Given the description of an element on the screen output the (x, y) to click on. 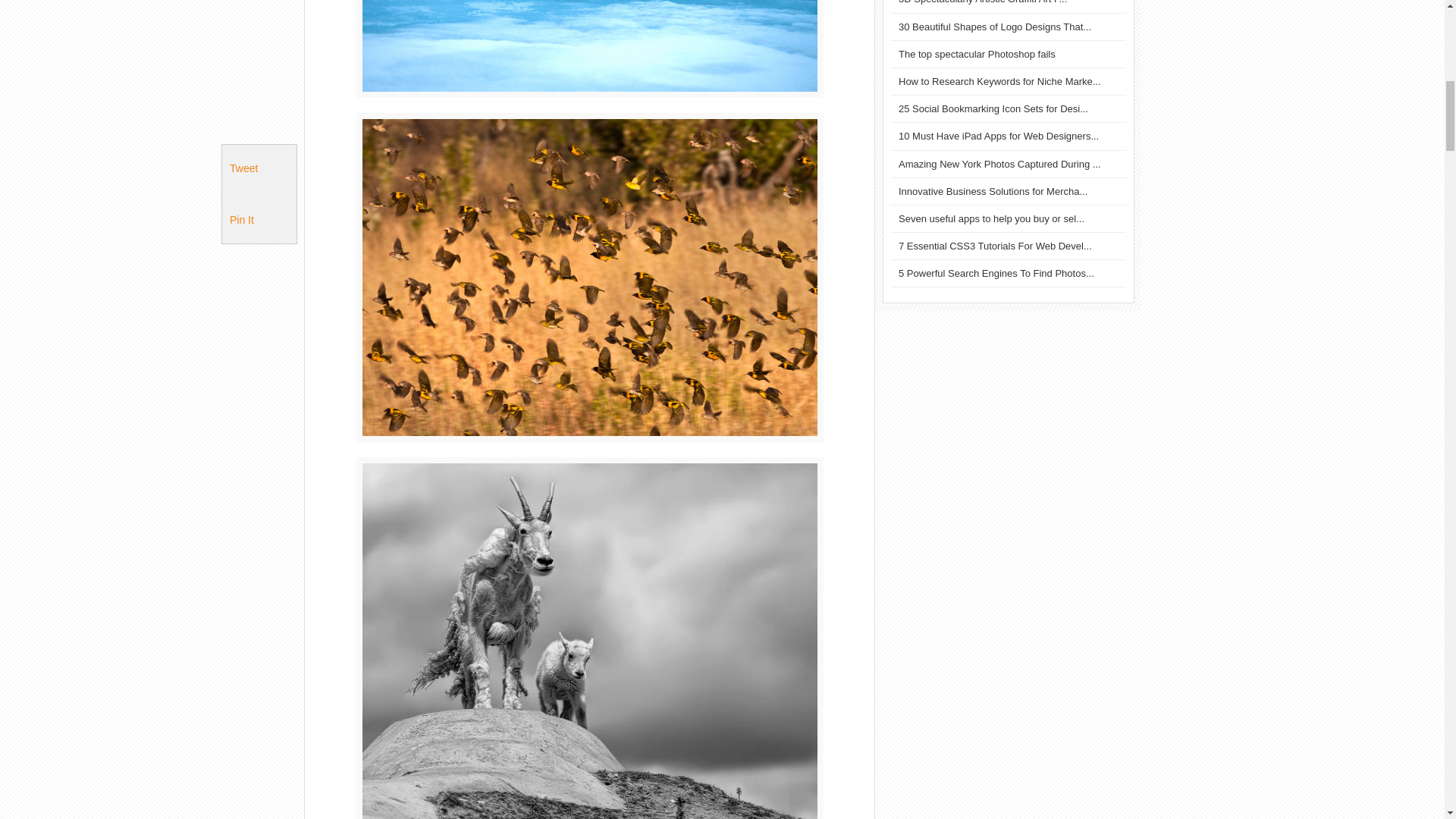
animal-14 (590, 48)
